Given the description of an element on the screen output the (x, y) to click on. 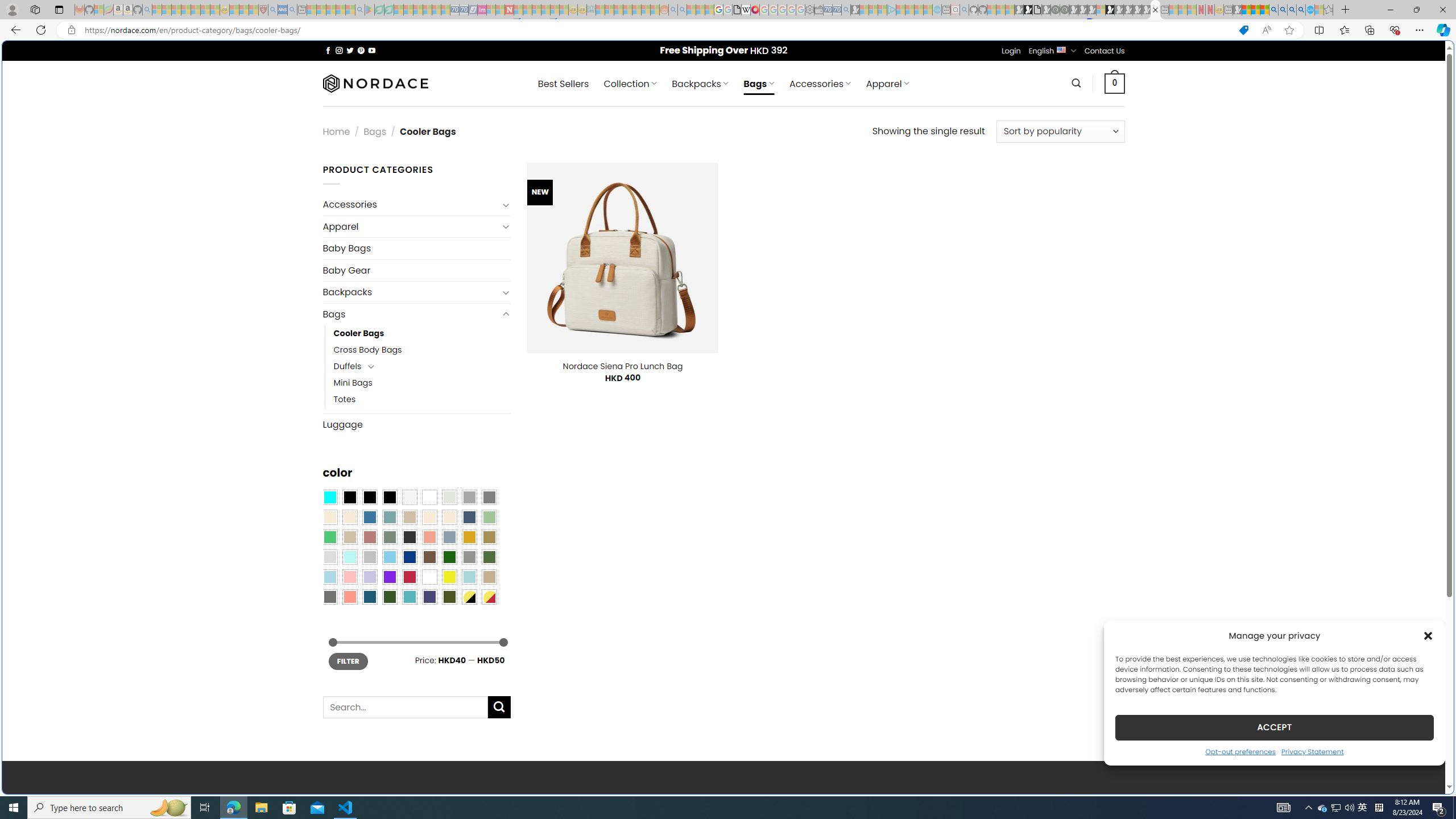
Follow on Facebook (327, 49)
Contact Us (1104, 50)
Frequently visited (965, 151)
Close split screen (1208, 57)
Follow on Twitter (349, 49)
 Best Sellers (563, 83)
Rose (369, 536)
Services - Maintenance | Sky Blue Bikes - Sky Blue Bikes (1309, 9)
